Given the description of an element on the screen output the (x, y) to click on. 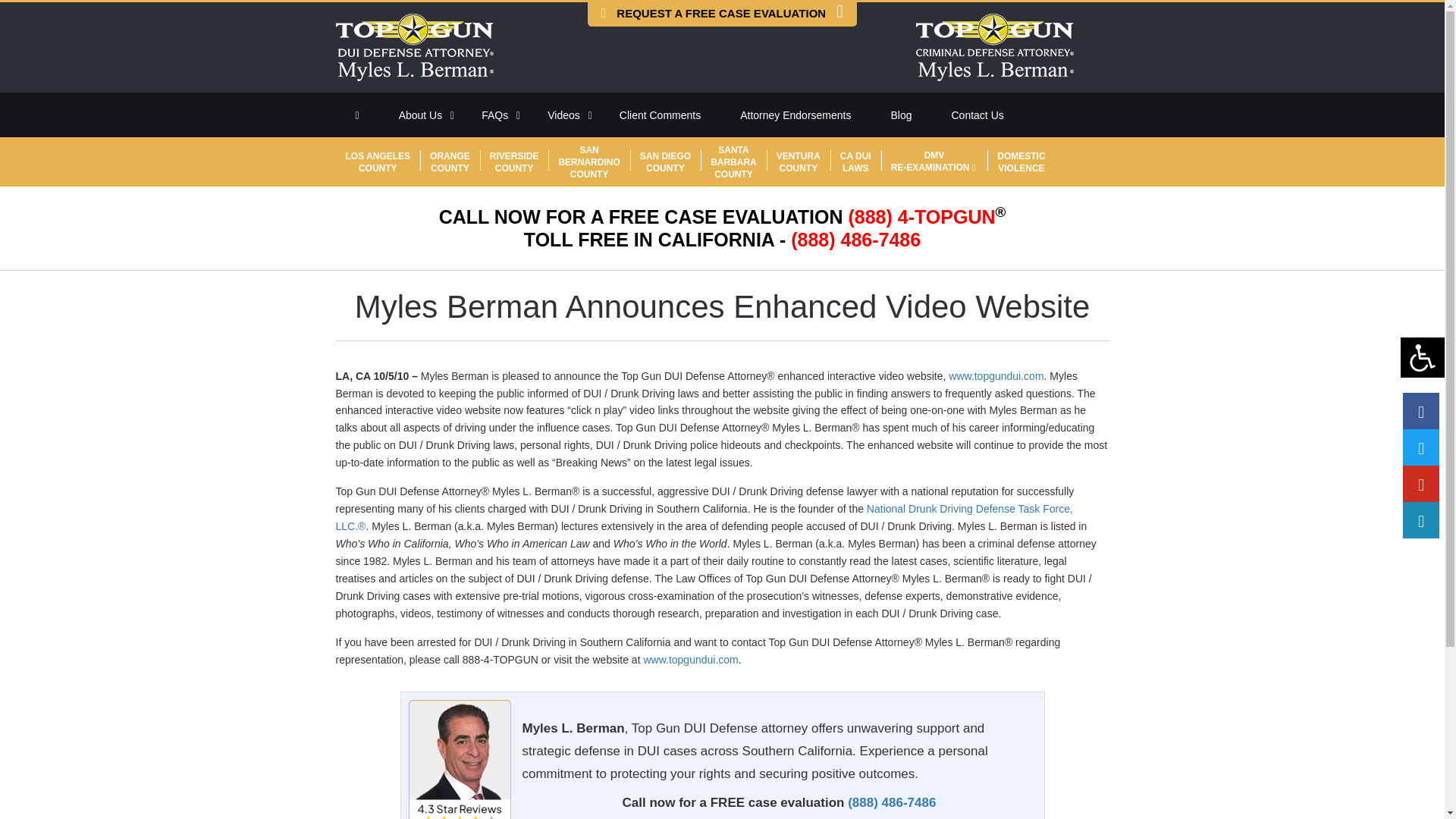
Contact Us (977, 114)
Blog (900, 114)
Attorney Endorsements (795, 114)
About Us (420, 114)
REQUEST A FREE CASE EVALUATION (722, 14)
Videos (563, 114)
Client Comments (659, 114)
FAQs (494, 114)
